Given the description of an element on the screen output the (x, y) to click on. 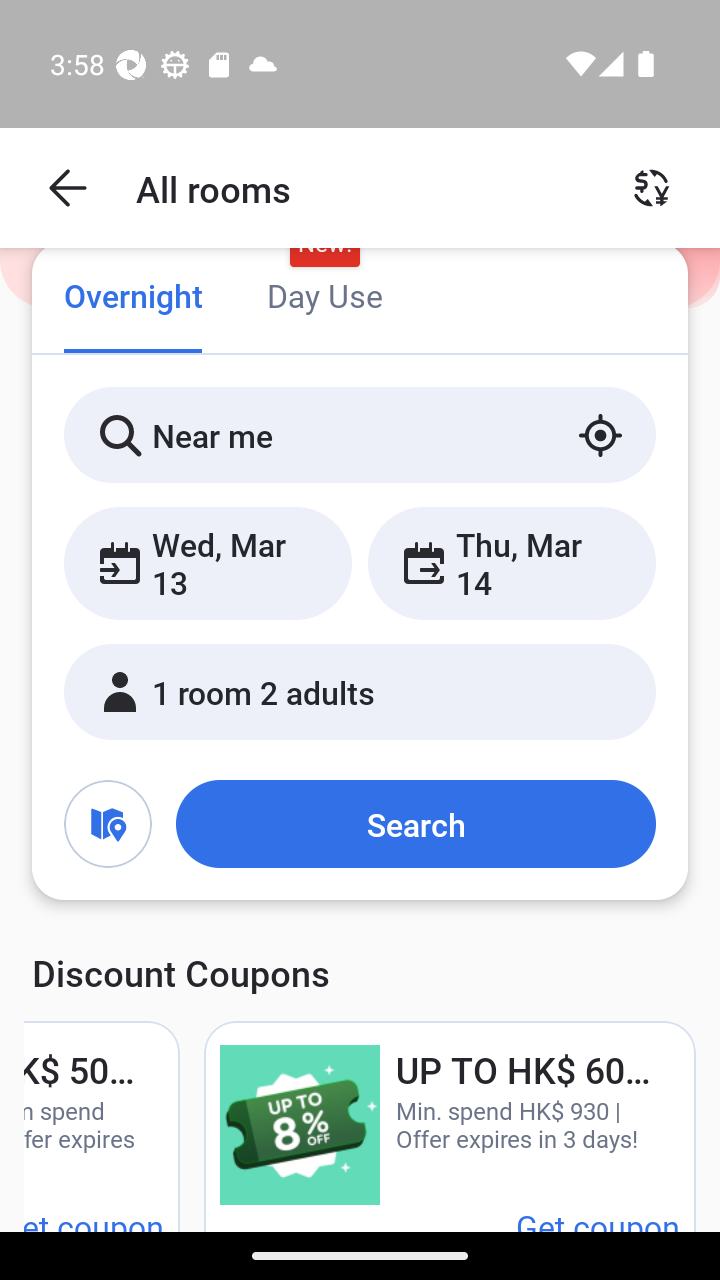
Day Use (324, 298)
Near me (359, 434)
Wed, Mar 13 (208, 562)
Thu, Mar 14 (511, 562)
1 room 2 adults (359, 691)
Search (415, 823)
